Given the description of an element on the screen output the (x, y) to click on. 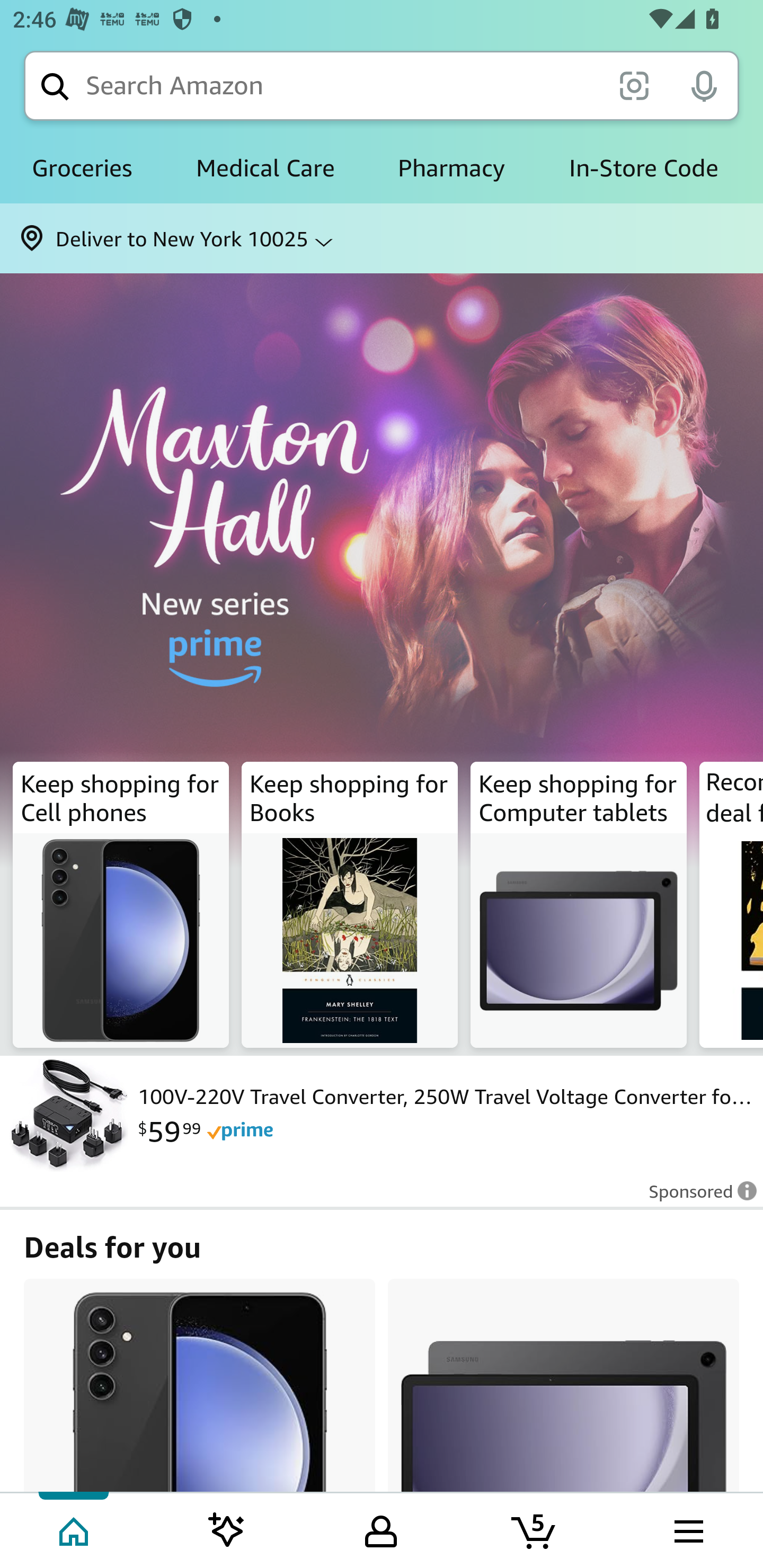
scan it (633, 85)
Groceries (82, 168)
Medical Care (265, 168)
Pharmacy (451, 168)
In-Store Code (643, 168)
Deliver to New York 10025 ⌵ (381, 237)
Keep shopping for Books Keep shopping for Books (349, 904)
Leave feedback on Sponsored ad Sponsored  (696, 1196)
Home Tab 1 of 5 (75, 1529)
Inspire feed Tab 2 of 5 (227, 1529)
Your Amazon.com Tab 3 of 5 (380, 1529)
Cart 5 items Tab 4 of 5 5 (534, 1529)
Browse menu Tab 5 of 5 (687, 1529)
